Given the description of an element on the screen output the (x, y) to click on. 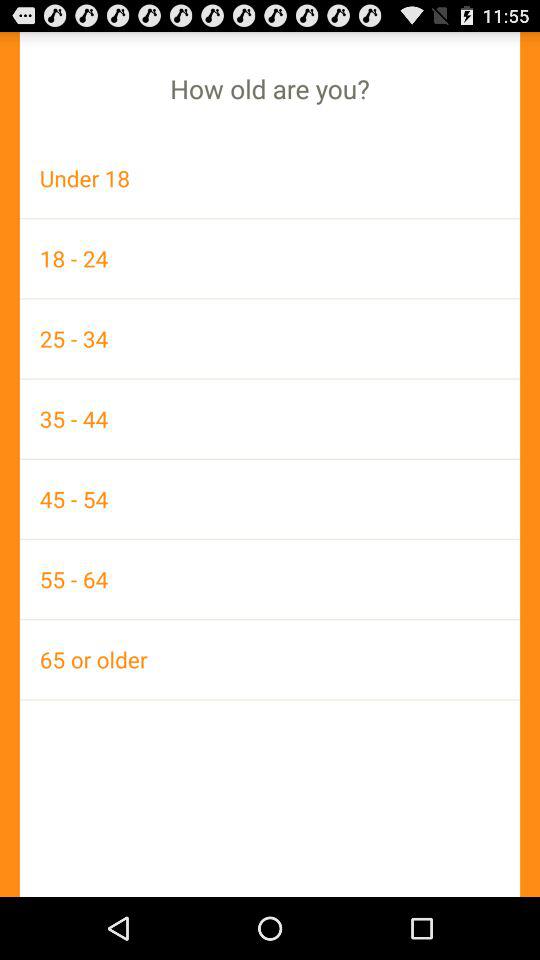
choose icon below the how old are item (269, 177)
